Given the description of an element on the screen output the (x, y) to click on. 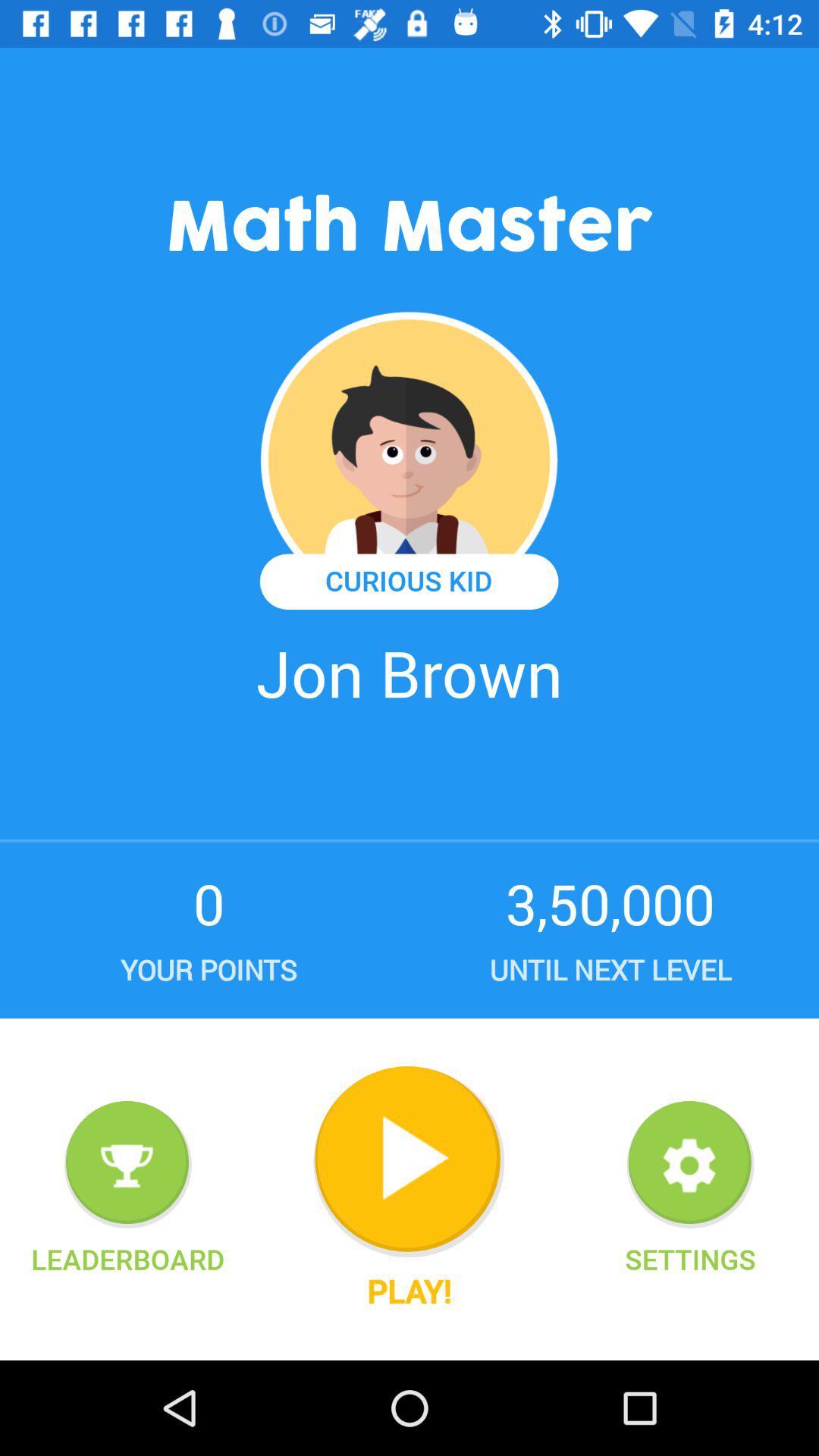
settings (690, 1164)
